Given the description of an element on the screen output the (x, y) to click on. 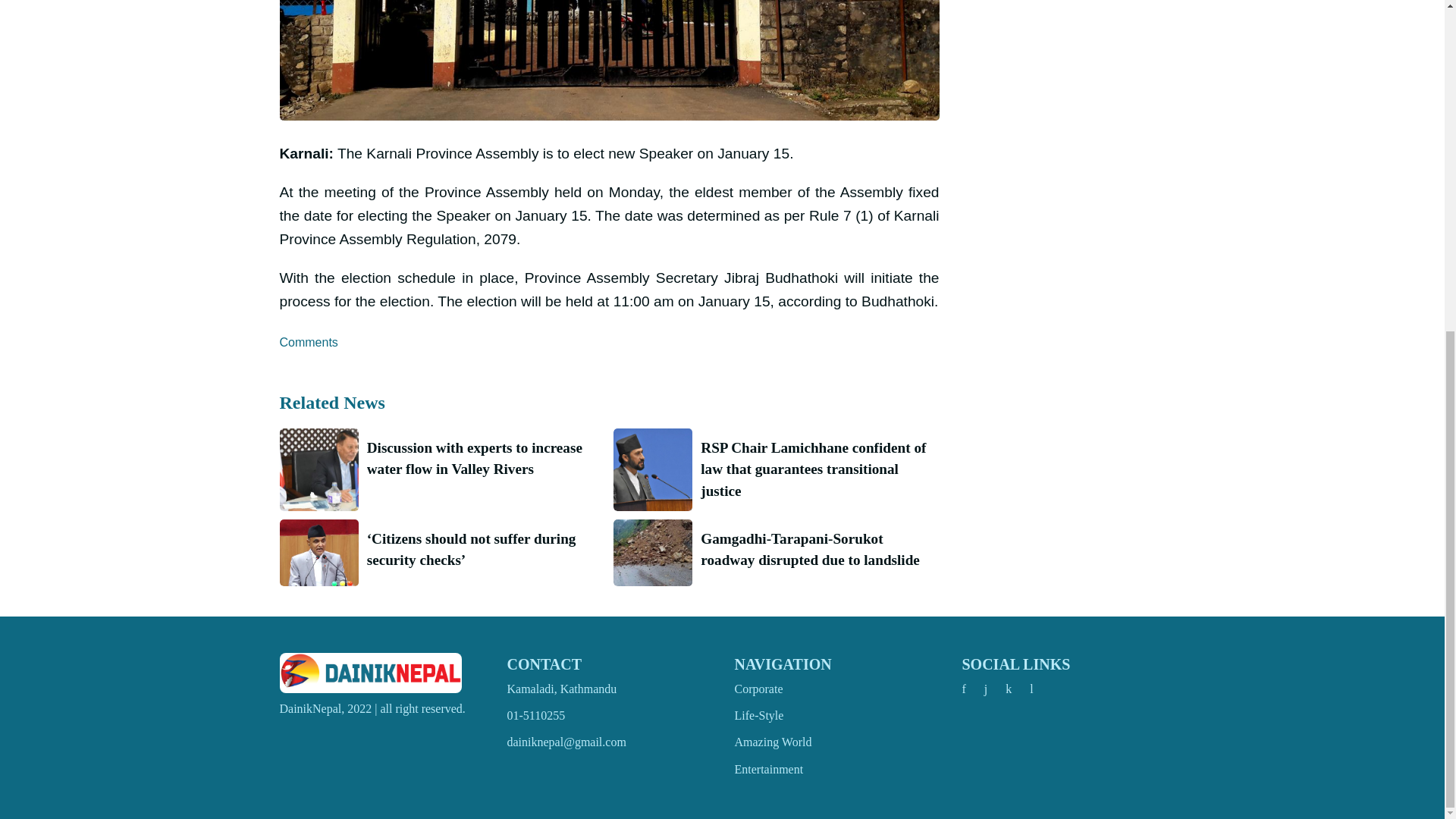
Entertainment (768, 768)
Amazing World (771, 741)
Corporate (758, 688)
Gamgadhi-Tarapani-Sorukot roadway disrupted due to landslide (815, 550)
Life-Style (758, 715)
